Given the description of an element on the screen output the (x, y) to click on. 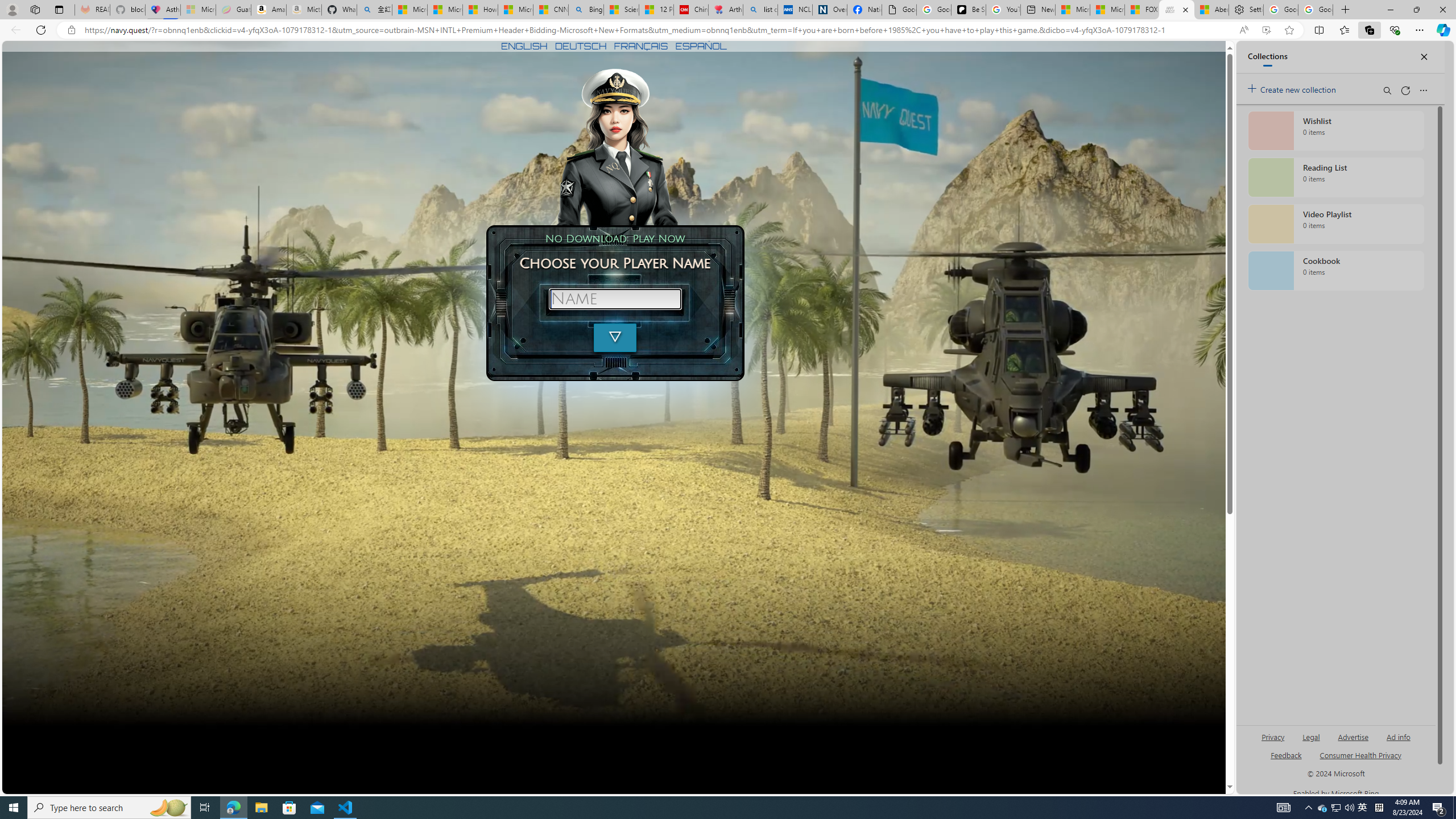
FOX News - MSN (1141, 9)
12 Popular Science Lies that Must be Corrected (656, 9)
Be Smart | creating Science videos | Patreon (968, 9)
Aberdeen, Hong Kong SAR hourly forecast | Microsoft Weather (1211, 9)
DEUTSCH (580, 45)
Bing (585, 9)
